Given the description of an element on the screen output the (x, y) to click on. 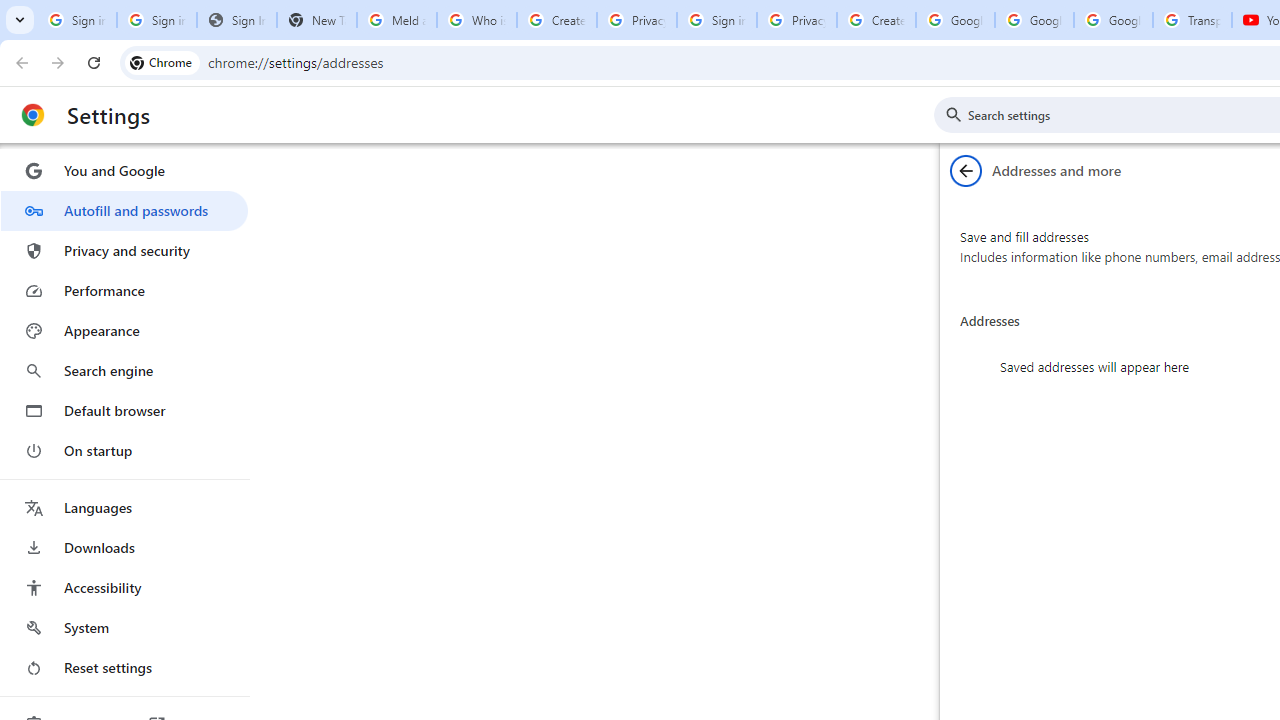
Google Account (1113, 20)
Performance (124, 290)
New Tab (316, 20)
Search engine (124, 370)
Sign in - Google Accounts (716, 20)
You and Google (124, 170)
Appearance (124, 331)
Accessibility (124, 587)
Who is my administrator? - Google Account Help (476, 20)
